Given the description of an element on the screen output the (x, y) to click on. 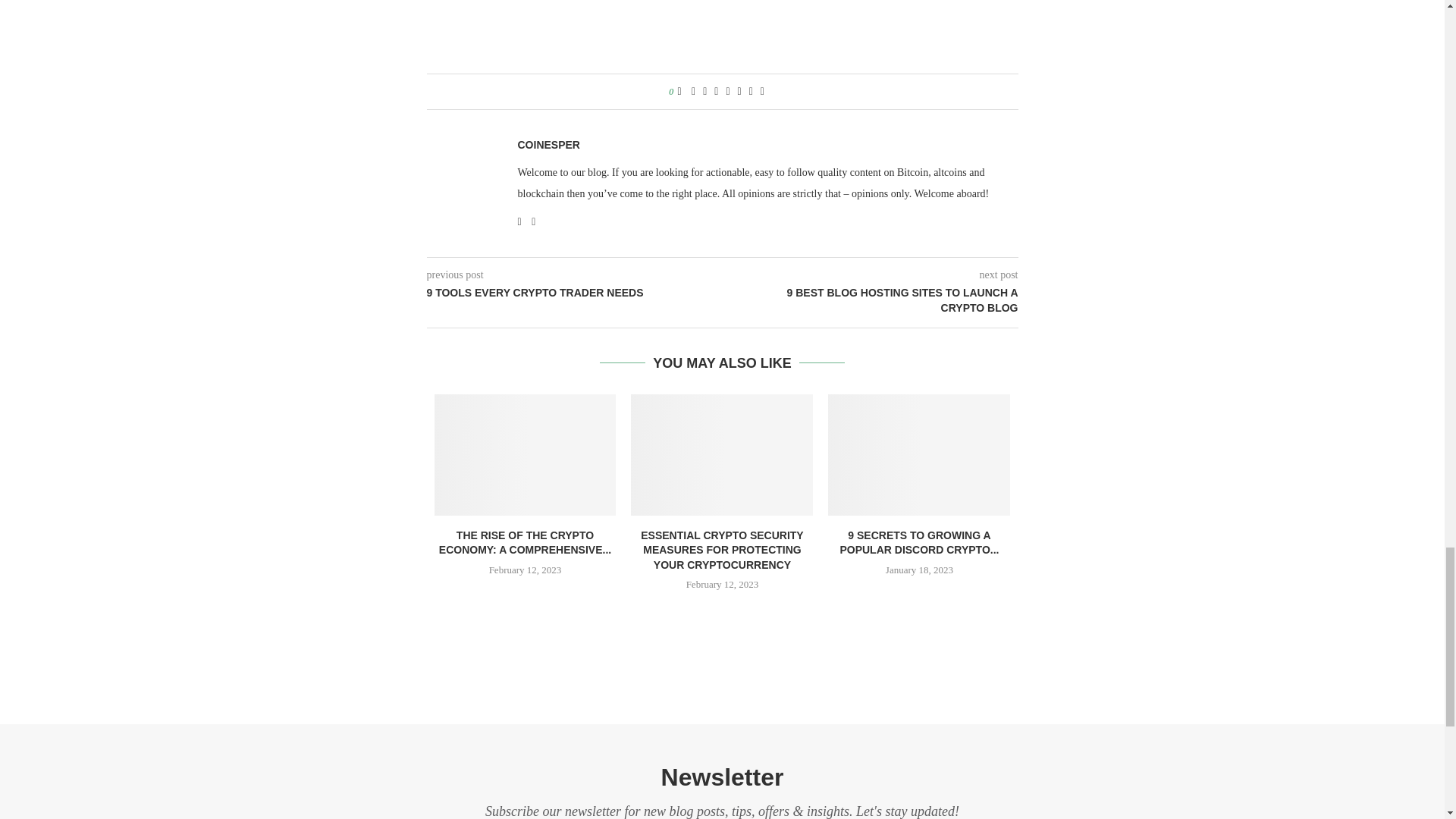
Author CoinEsper (547, 144)
COINESPER (547, 144)
9 BEST BLOG HOSTING SITES TO LAUNCH A CRYPTO BLOG (869, 300)
9 TOOLS EVERY CRYPTO TRADER NEEDS (574, 293)
9 SECRETS TO GROWING A POPULAR DISCORD CRYPTO... (919, 542)
THE RISE OF THE CRYPTO ECONOMY: A COMPREHENSIVE... (525, 542)
9 Secrets to Growing a Popular Discord Crypto Group (919, 454)
The Rise of the Crypto Economy: A Comprehensive Overview (524, 454)
